Given the description of an element on the screen output the (x, y) to click on. 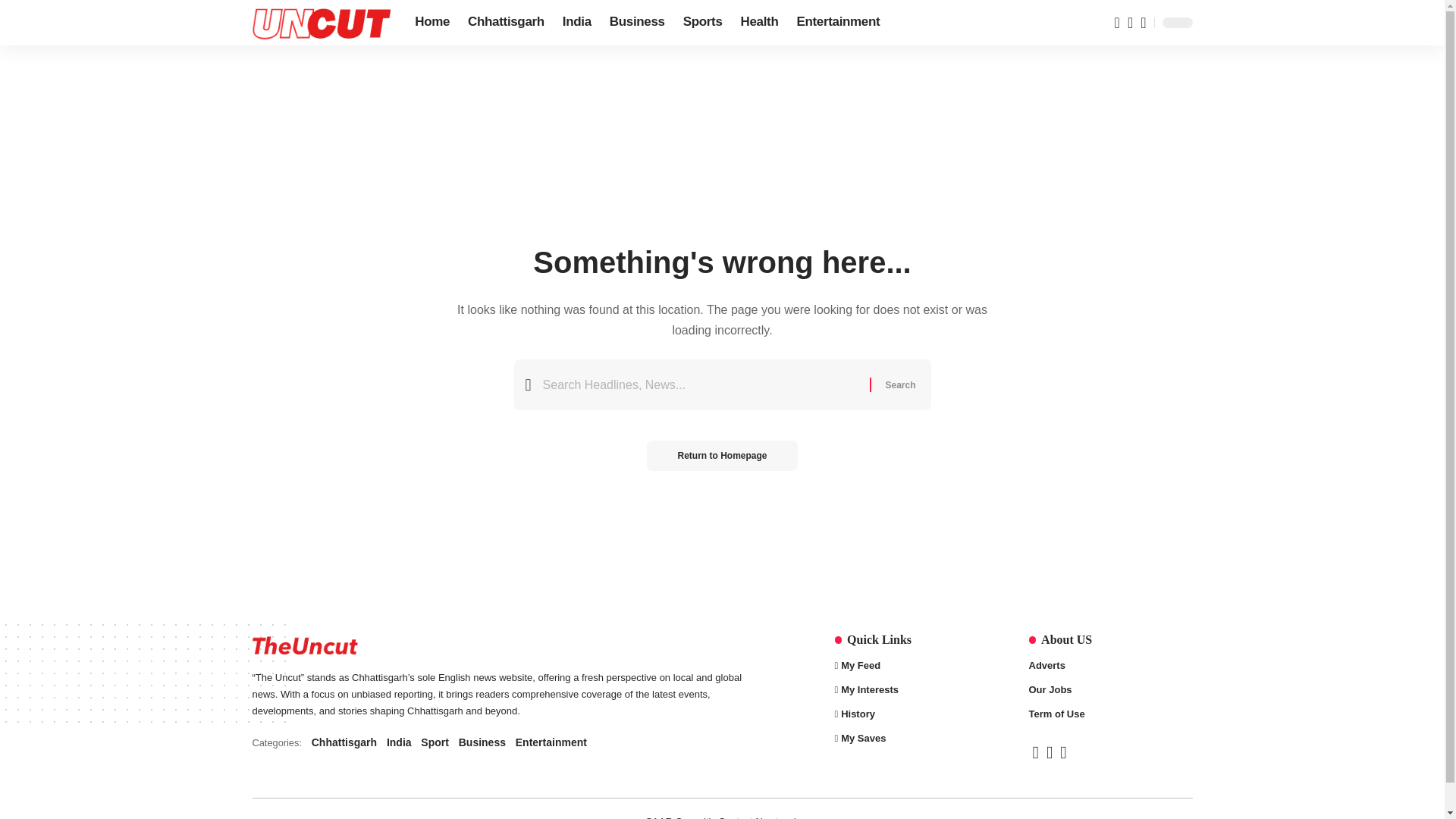
The Uncut (320, 22)
Health (498, 742)
Sports (759, 22)
India (703, 22)
Entertainment (576, 22)
Home (837, 22)
Chhattisgarh (432, 22)
Search (505, 22)
Return to Homepage (899, 384)
Search (721, 455)
Business (899, 384)
